Given the description of an element on the screen output the (x, y) to click on. 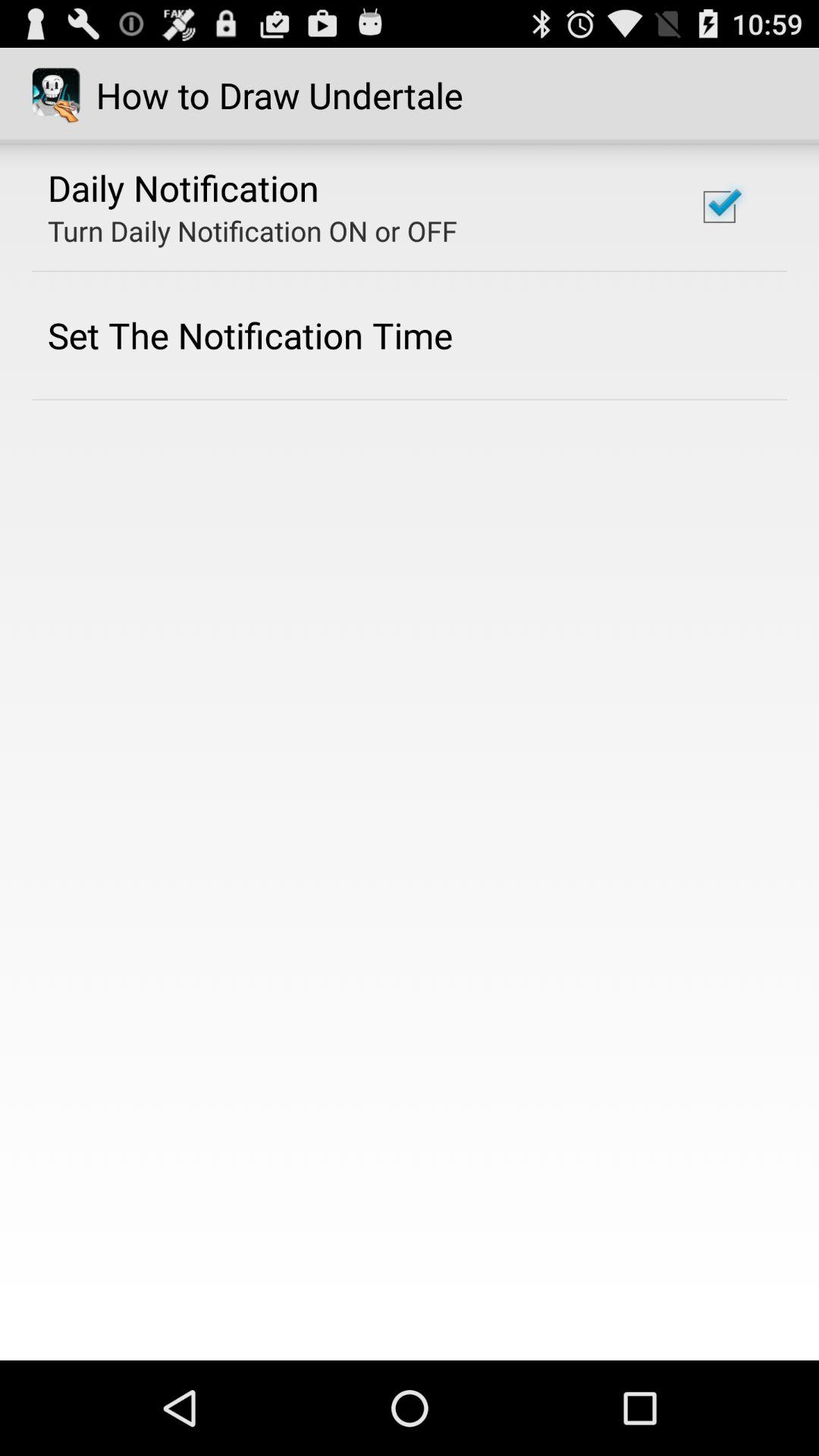
tap the icon below turn daily notification item (249, 335)
